Given the description of an element on the screen output the (x, y) to click on. 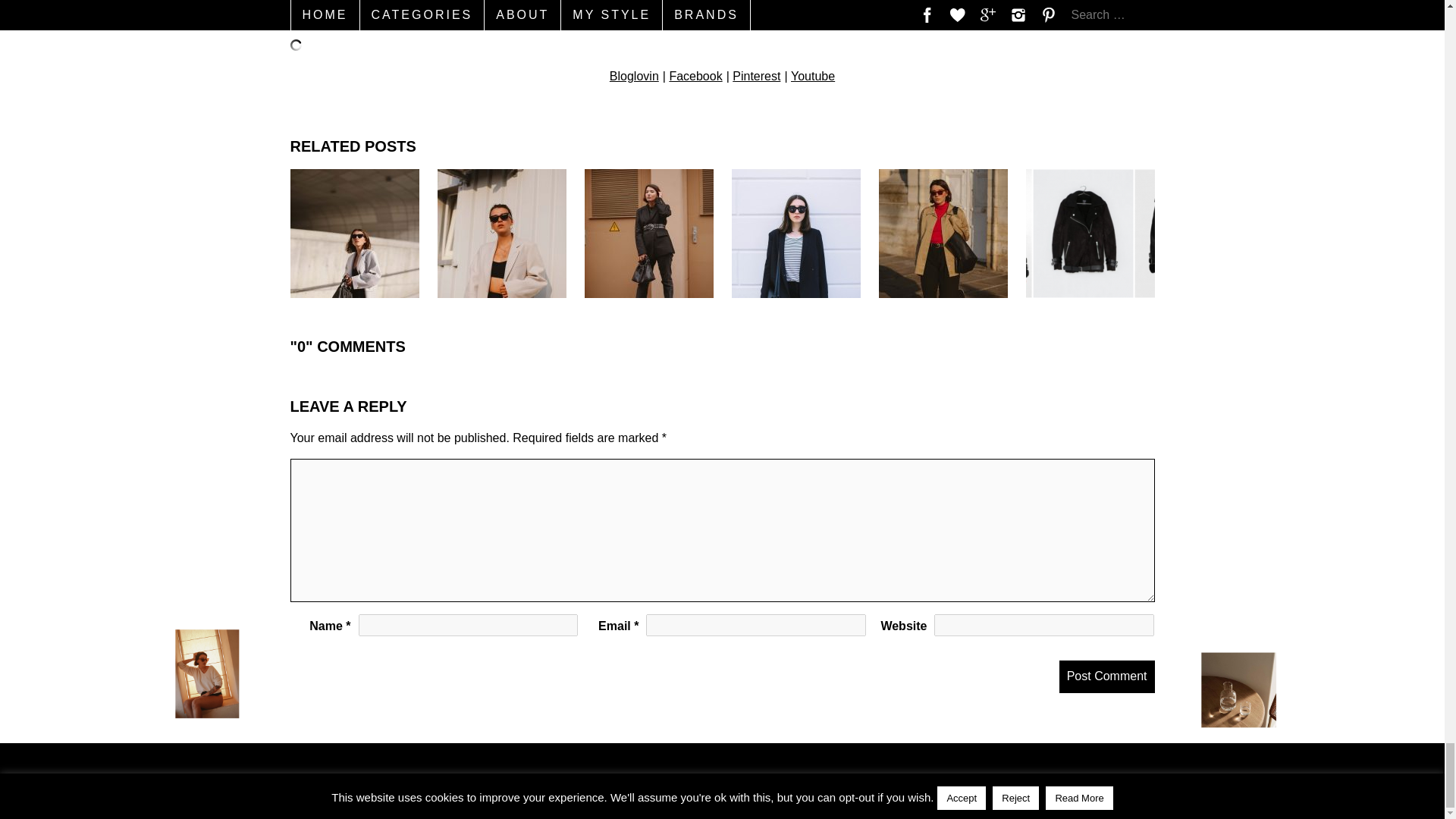
Facebook (695, 75)
Bloglovin (634, 75)
Pinterest (756, 75)
Dongdaemun Design Plaza: Featuring Acne Blazer (354, 233)
Golden Paris: Featuring Acne Overshirt (942, 233)
Post Comment (1106, 676)
Back to Basics: Featuring ACNE STUDIOS blazer (501, 233)
Belted: Featuring Toteme Jeans (648, 233)
